Given the description of an element on the screen output the (x, y) to click on. 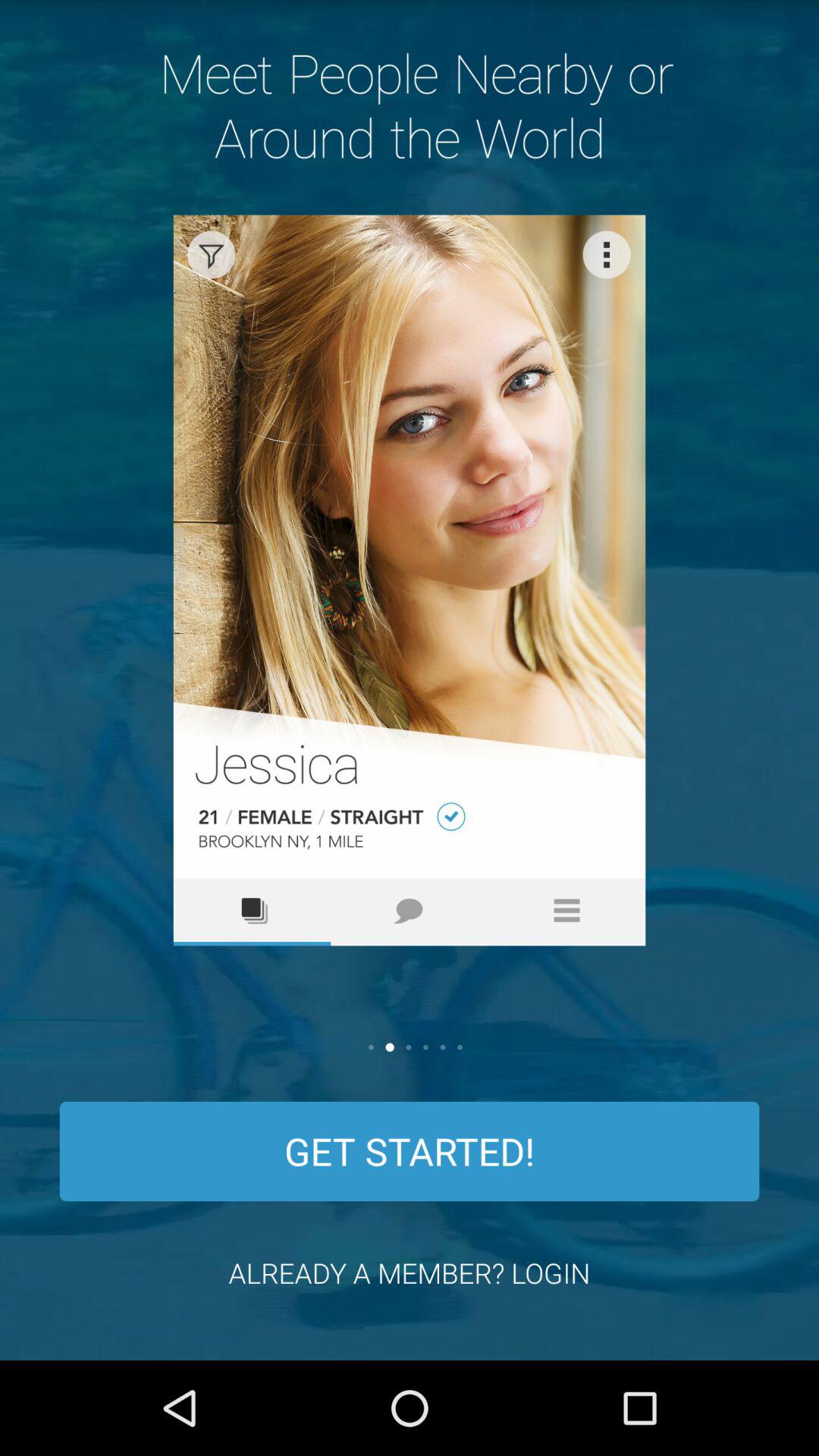
click already a member icon (409, 1272)
